Given the description of an element on the screen output the (x, y) to click on. 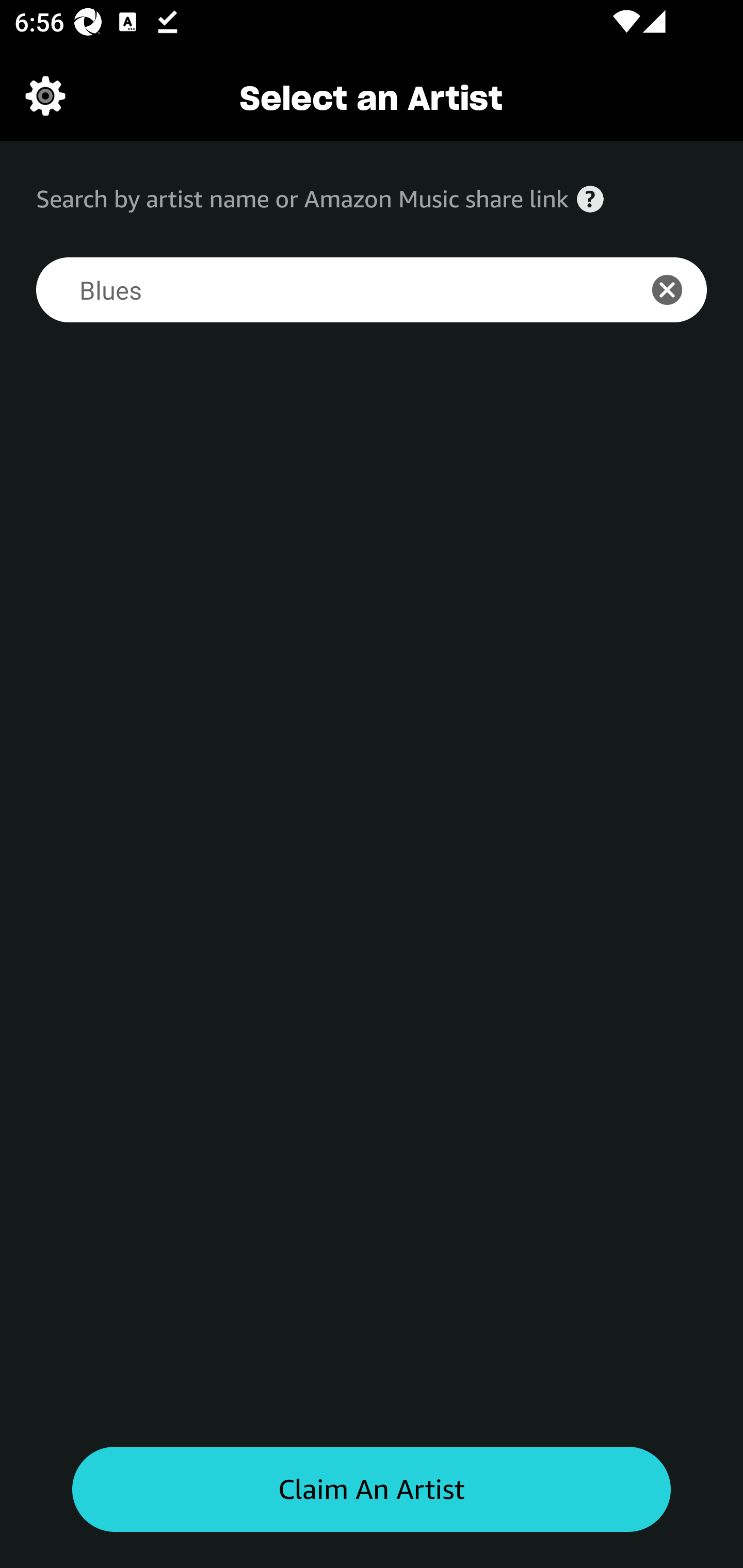
Help  icon (589, 199)
Blues Search for an artist search bar (324, 290)
 icon (677, 290)
Claim an artist button Claim An Artist (371, 1489)
